Given the description of an element on the screen output the (x, y) to click on. 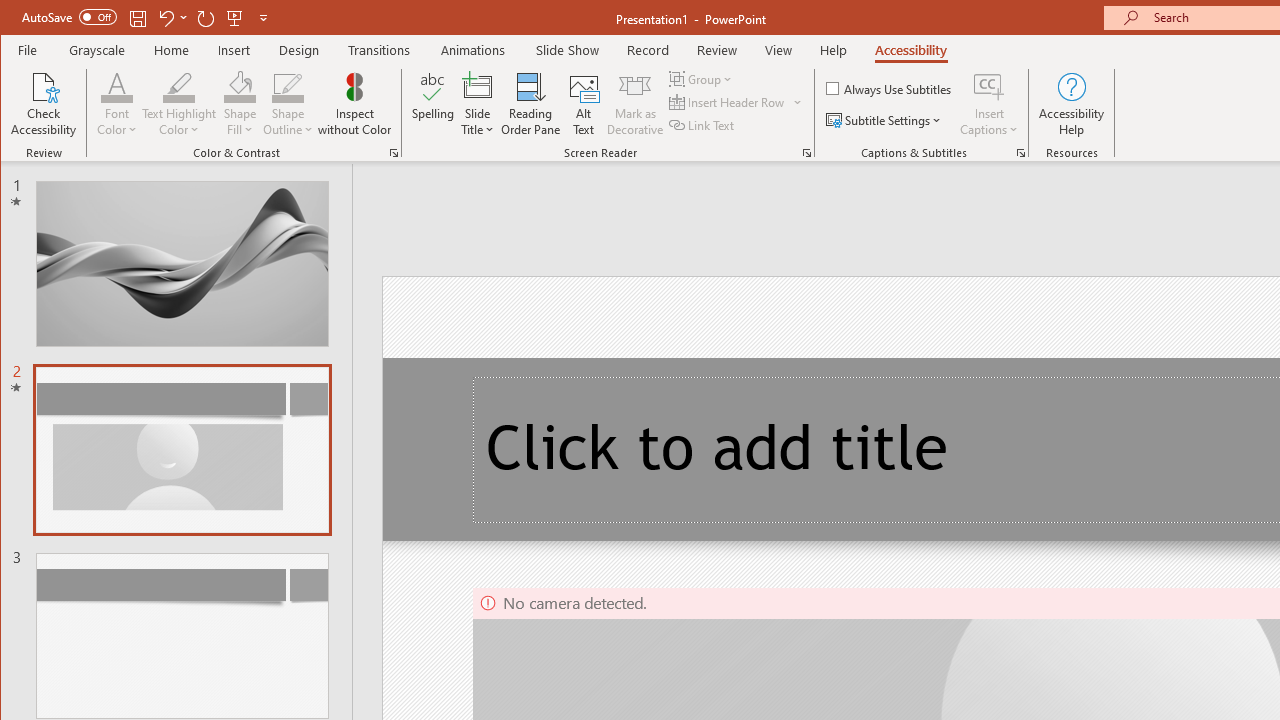
Insert Header Row (728, 101)
Redo (206, 17)
Group (701, 78)
Animations (473, 50)
Text Highlight Color (178, 86)
Insert Captions (989, 104)
Grayscale (97, 50)
Spelling... (432, 104)
Accessibility (910, 50)
